Given the description of an element on the screen output the (x, y) to click on. 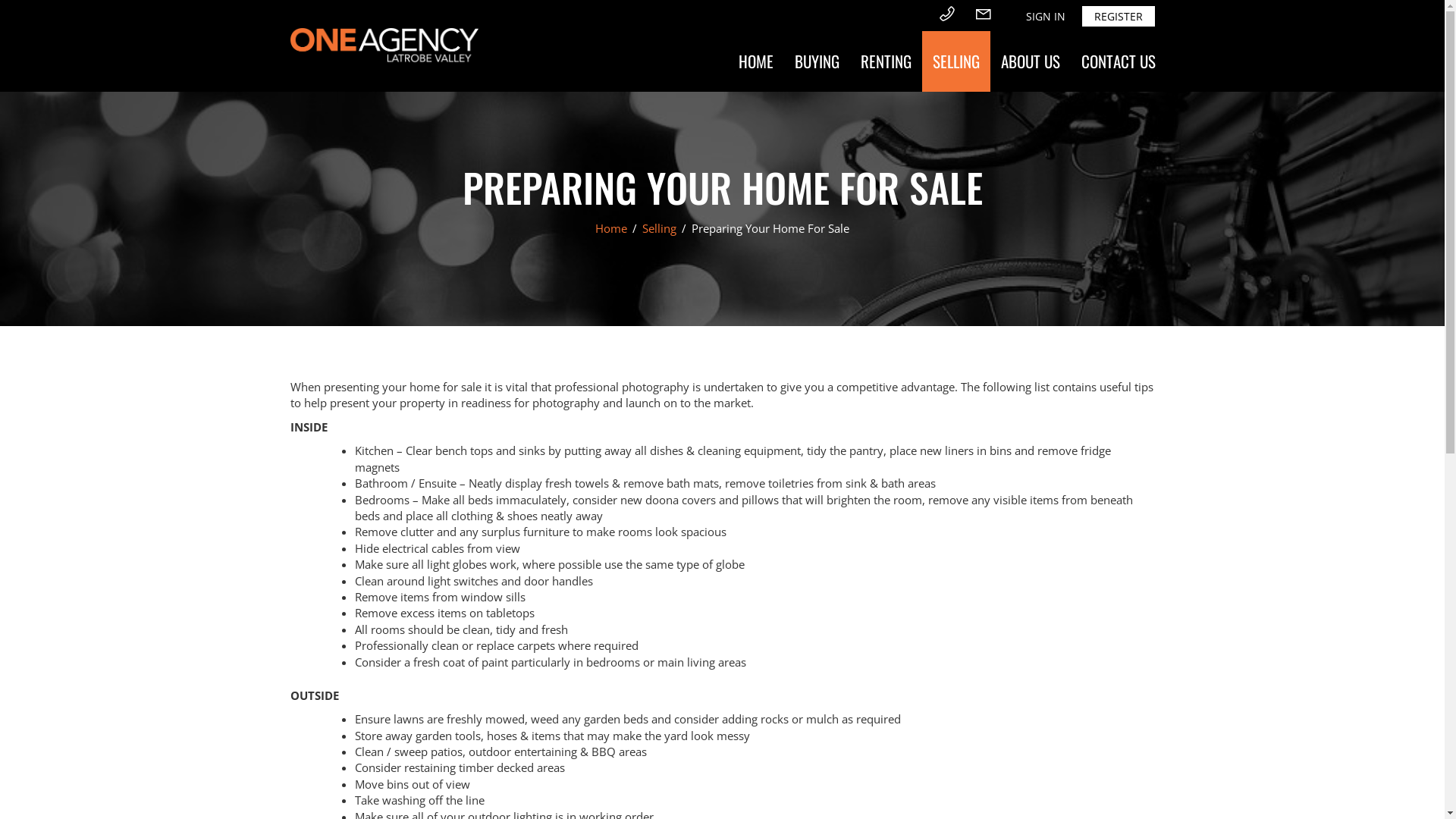
REGISTER Element type: text (1117, 16)
RENTING Element type: text (885, 61)
BUYING Element type: text (817, 61)
CONTACT US Element type: text (1118, 61)
HOME Element type: text (756, 61)
SELLING Element type: text (956, 61)
Home Element type: text (612, 227)
ABOUT US Element type: text (1030, 61)
Selling Element type: text (660, 227)
SIGN IN Element type: text (1044, 16)
